Given the description of an element on the screen output the (x, y) to click on. 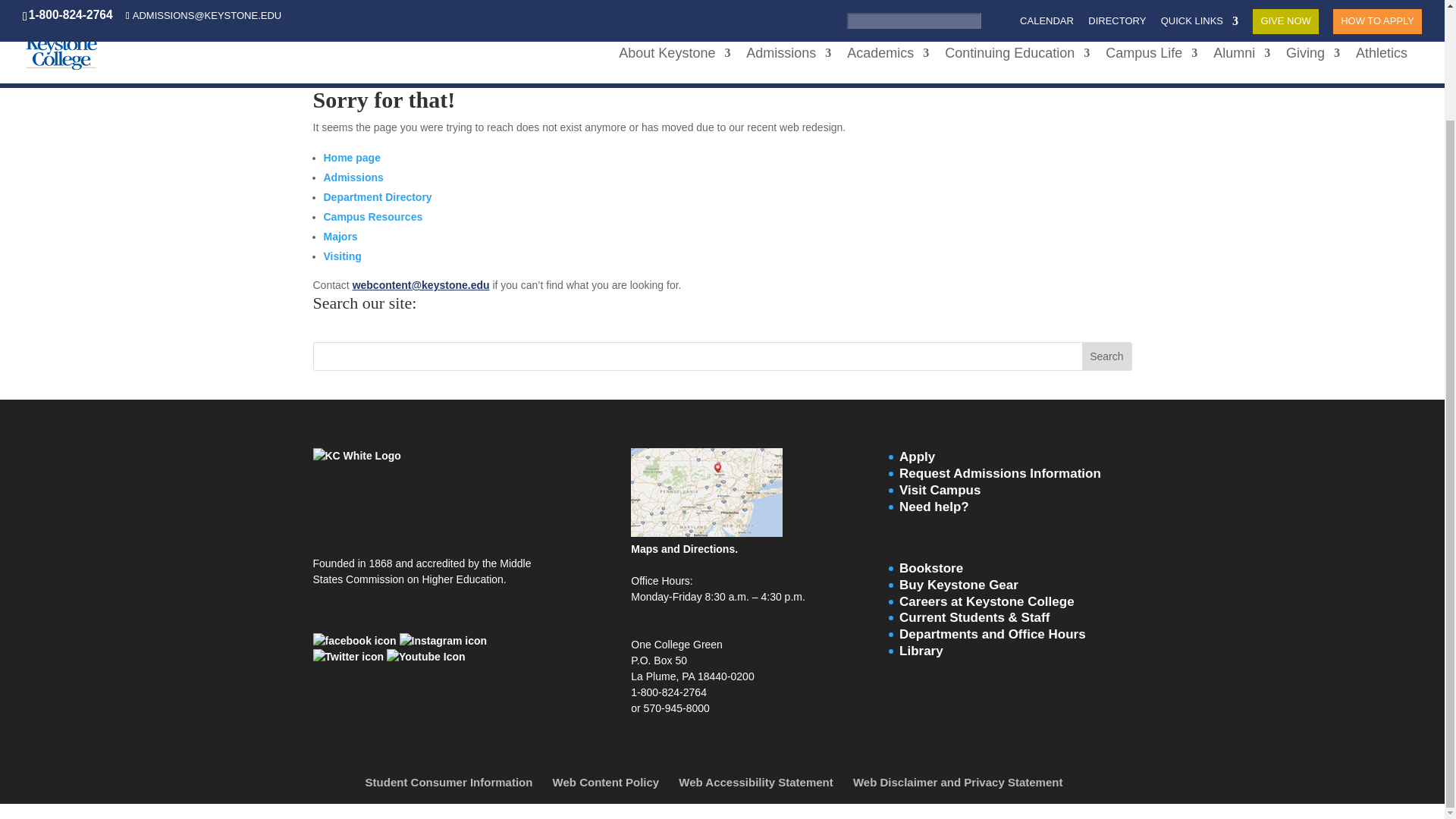
Search (1106, 356)
Search (1106, 356)
Maps (706, 532)
